Given the description of an element on the screen output the (x, y) to click on. 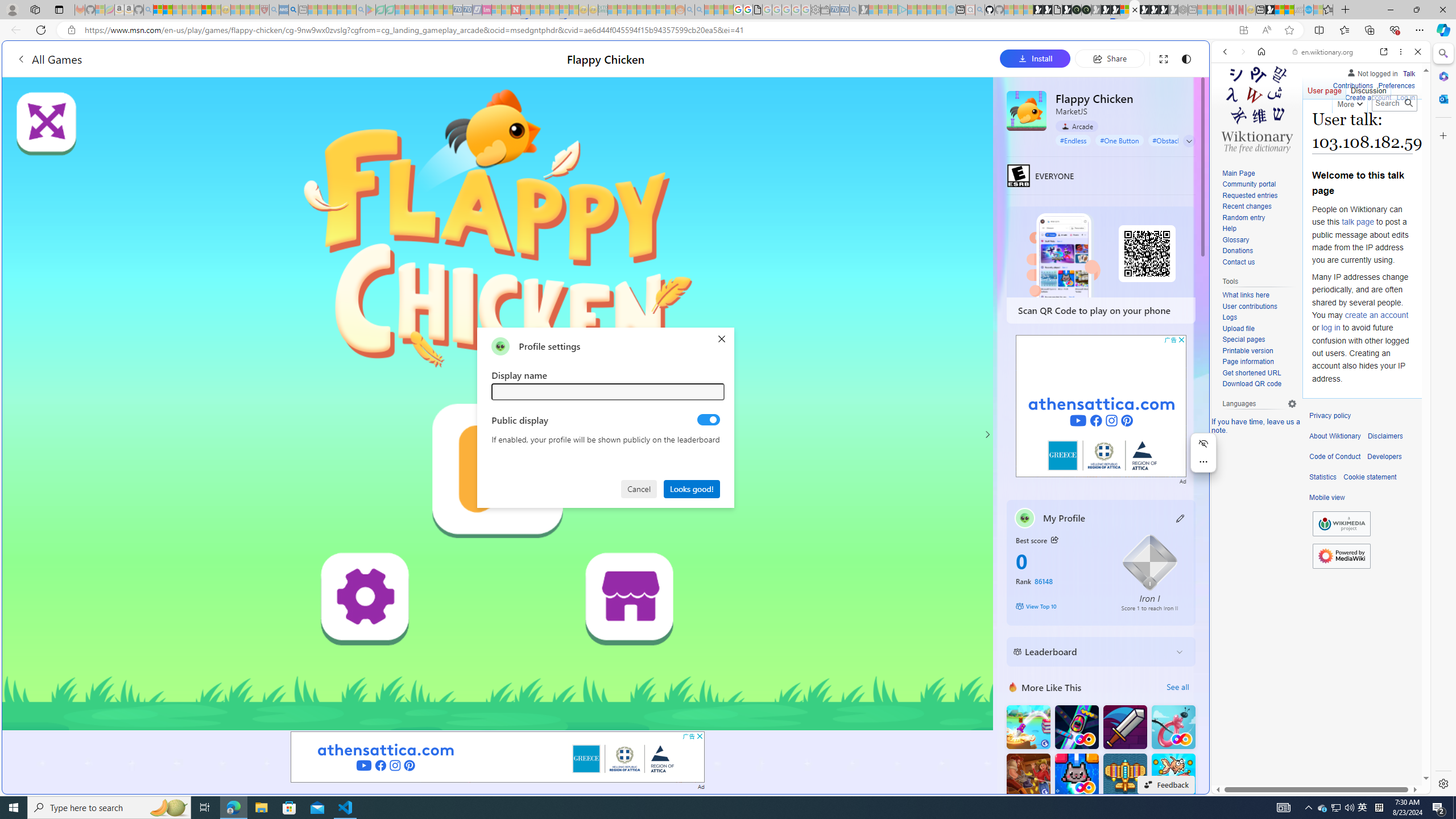
Donations (1237, 250)
Search or enter web address (922, 108)
Class: text-input (608, 391)
Play Zoo Boom in your browser | Games from Microsoft Start (1047, 9)
Mini menu on text selection (1202, 459)
Actions for this site (1370, 583)
Settings - Sleeping (815, 9)
Contributions (1352, 85)
Search Filter, Search Tools (1350, 129)
